Given the description of an element on the screen output the (x, y) to click on. 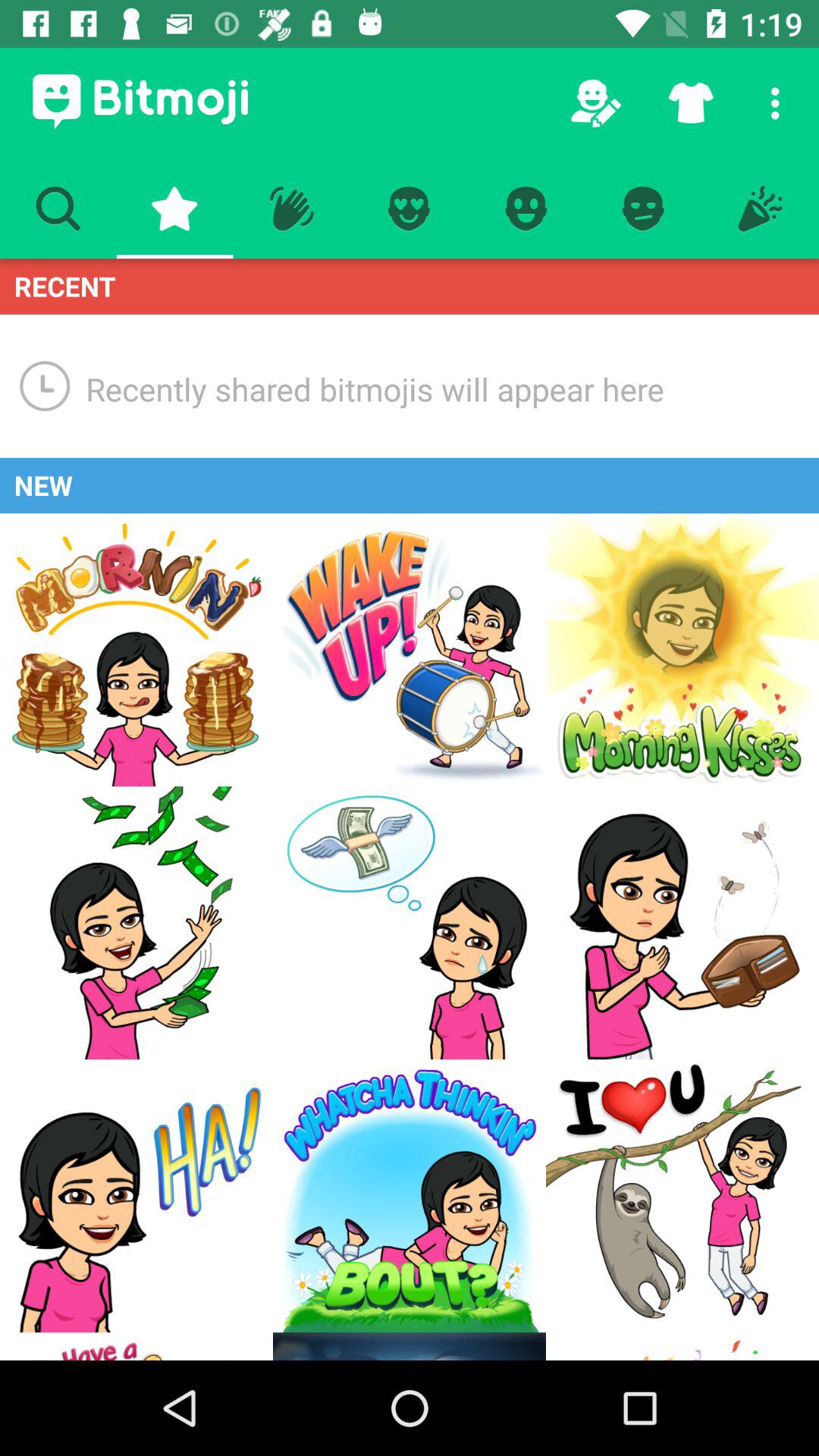
share the particular emoji (136, 922)
